Given the description of an element on the screen output the (x, y) to click on. 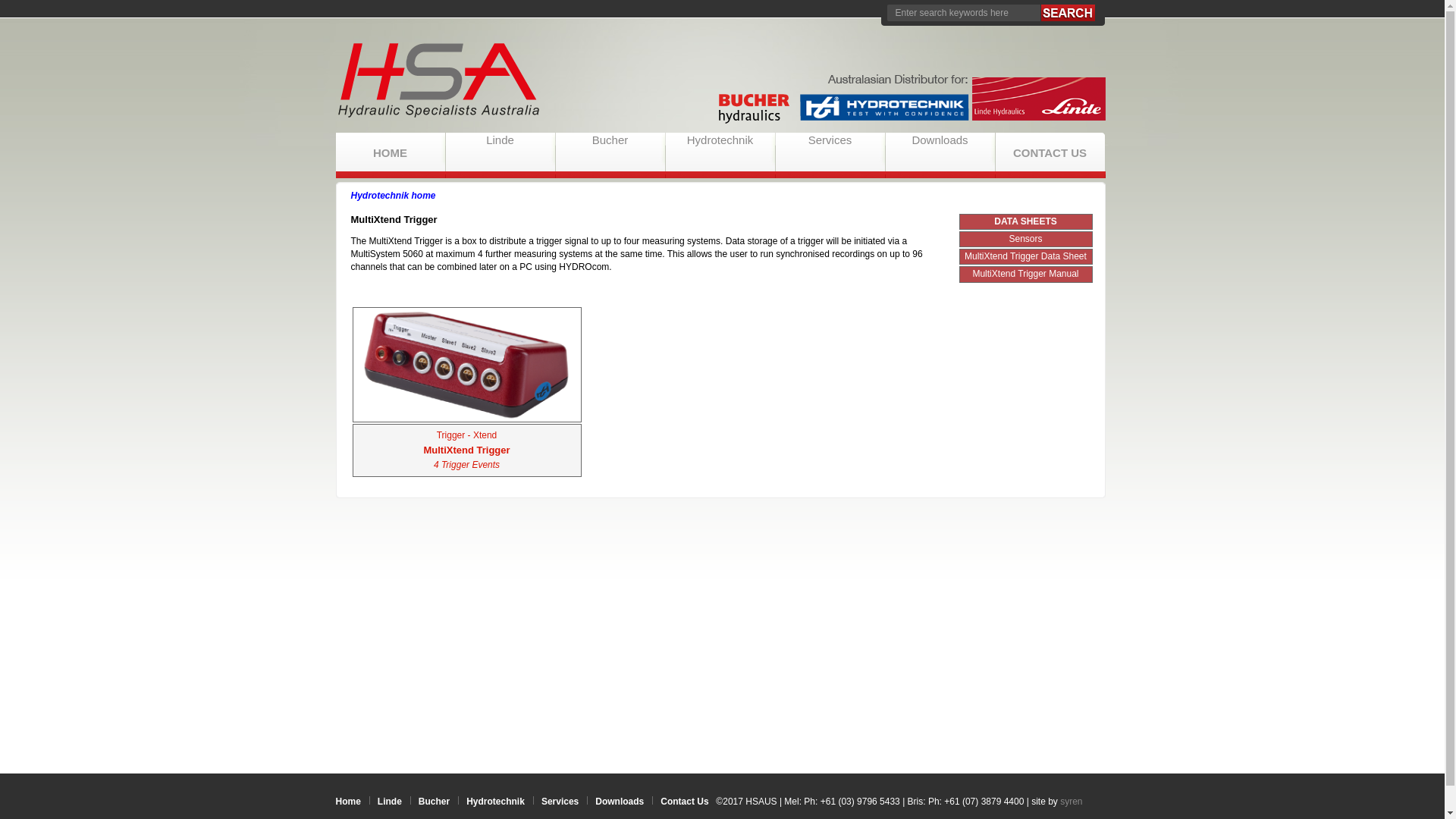
Linde Element type: text (500, 139)
HSAUS Element type: hover (721, 82)
HOME Element type: text (389, 151)
Bucher Element type: text (433, 801)
MultiXtend Trigger Manual Element type: text (1025, 273)
Hydrotechnik home Element type: text (392, 195)
Sensors Element type: text (1024, 238)
Downloads Element type: text (619, 801)
MultiXtend Trigger Data Sheet Element type: text (1025, 256)
syren Element type: text (1071, 801)
Linde Element type: text (389, 801)
Hydrotechnik Element type: text (720, 139)
Bucher Element type: text (610, 139)
CONTACT US Element type: text (1049, 151)
Services Element type: text (559, 801)
Contact Us Element type: text (684, 801)
Hydrotechnik Element type: text (495, 801)
Home Element type: text (347, 801)
Services Element type: text (830, 139)
Search Element type: text (1067, 12)
Downloads Element type: text (939, 139)
MultiXtend Trigger Element type: text (466, 450)
